Given the description of an element on the screen output the (x, y) to click on. 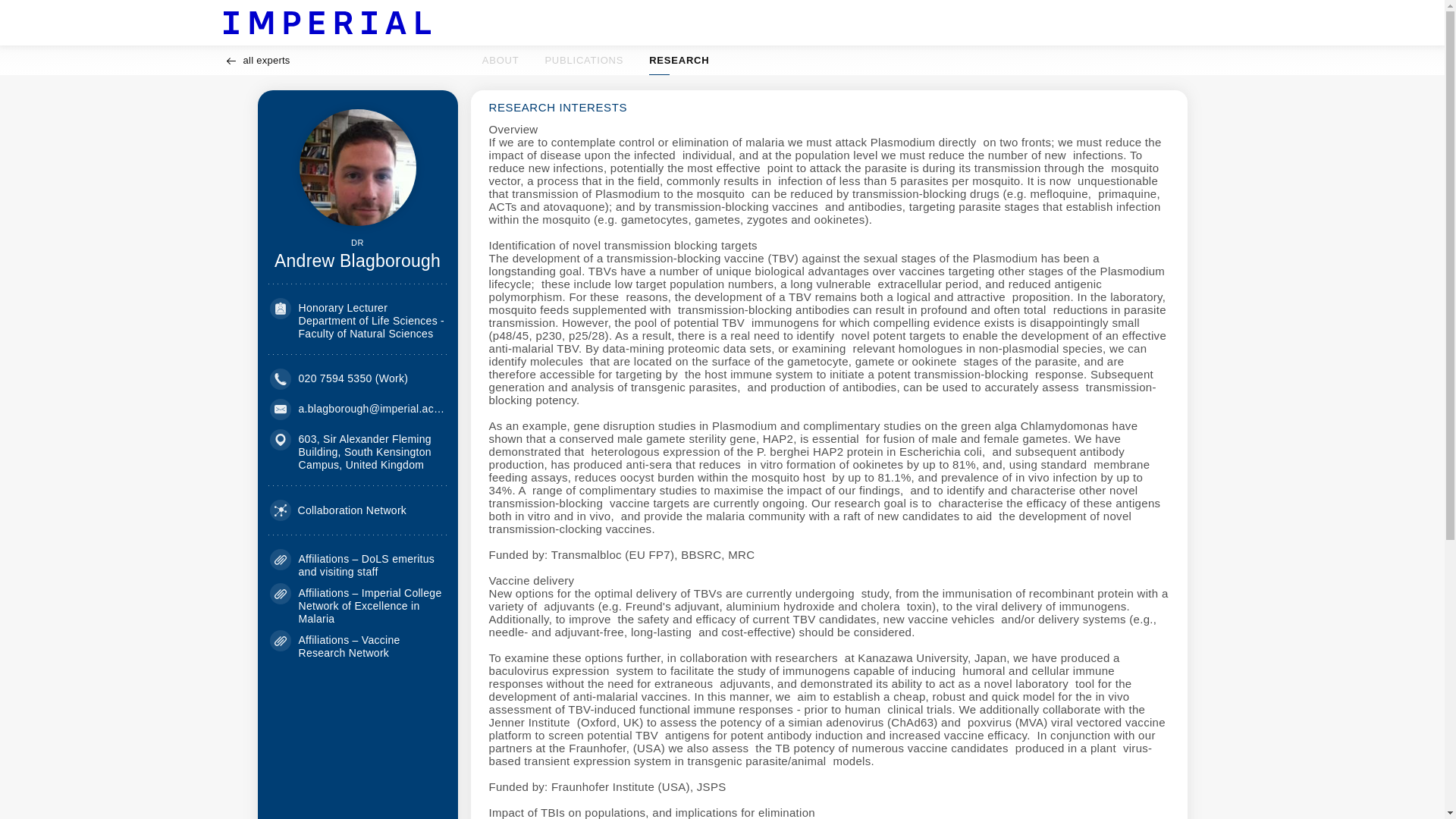
all experts (255, 60)
ABOUT (500, 60)
RESEARCH (678, 60)
Collaboration Network (338, 509)
PUBLICATIONS (595, 60)
